Given the description of an element on the screen output the (x, y) to click on. 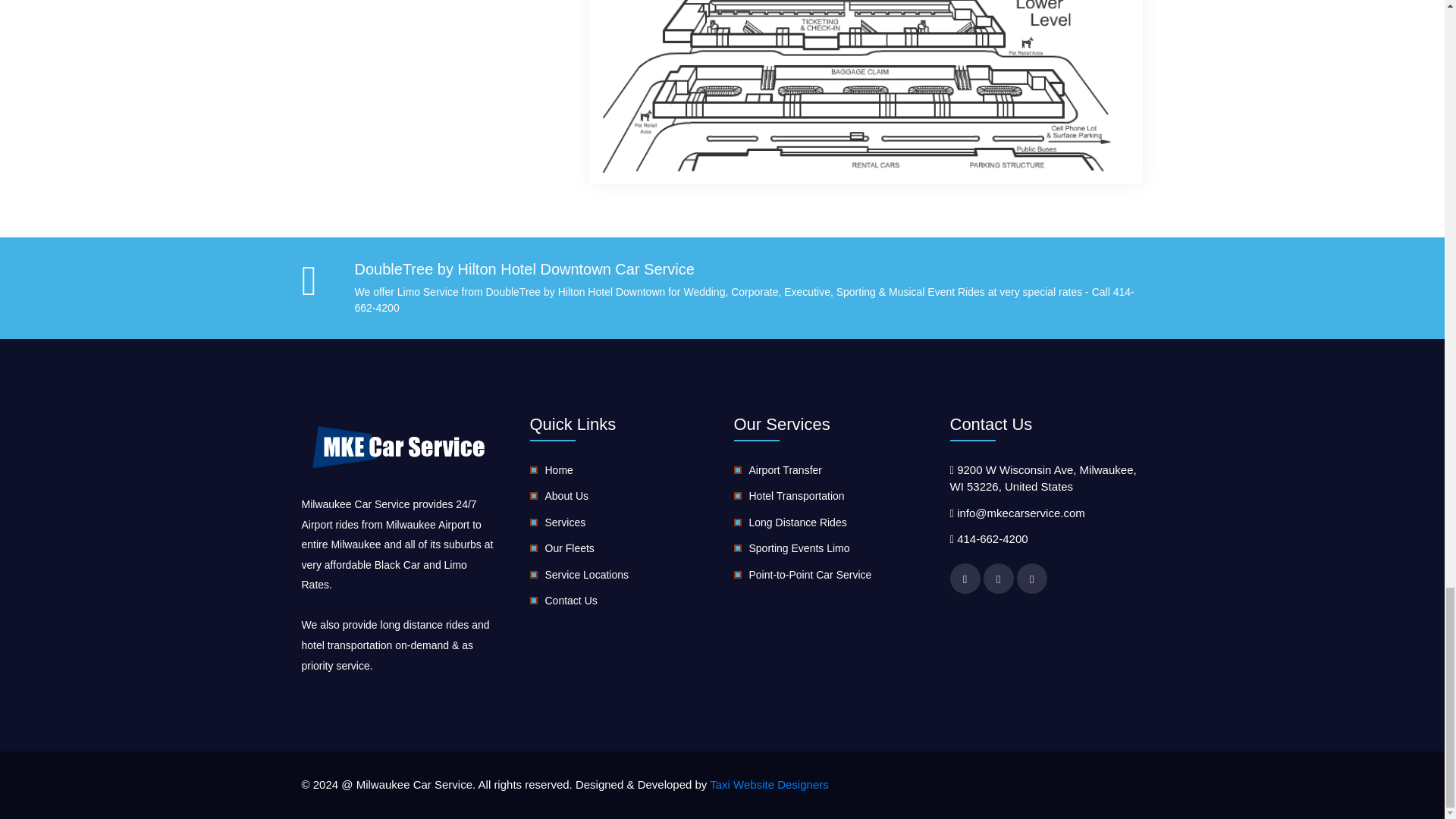
Hotel Transportation (796, 495)
Services (564, 522)
414-662-4200 (991, 538)
Sporting Events Limo (799, 548)
Service Locations (586, 574)
Contact Us (570, 600)
Airport Transfer (785, 469)
Long Distance Rides (798, 522)
About Us (566, 495)
Point-to-Point Car Service (810, 574)
Home (558, 469)
Our Fleets (569, 548)
